Given the description of an element on the screen output the (x, y) to click on. 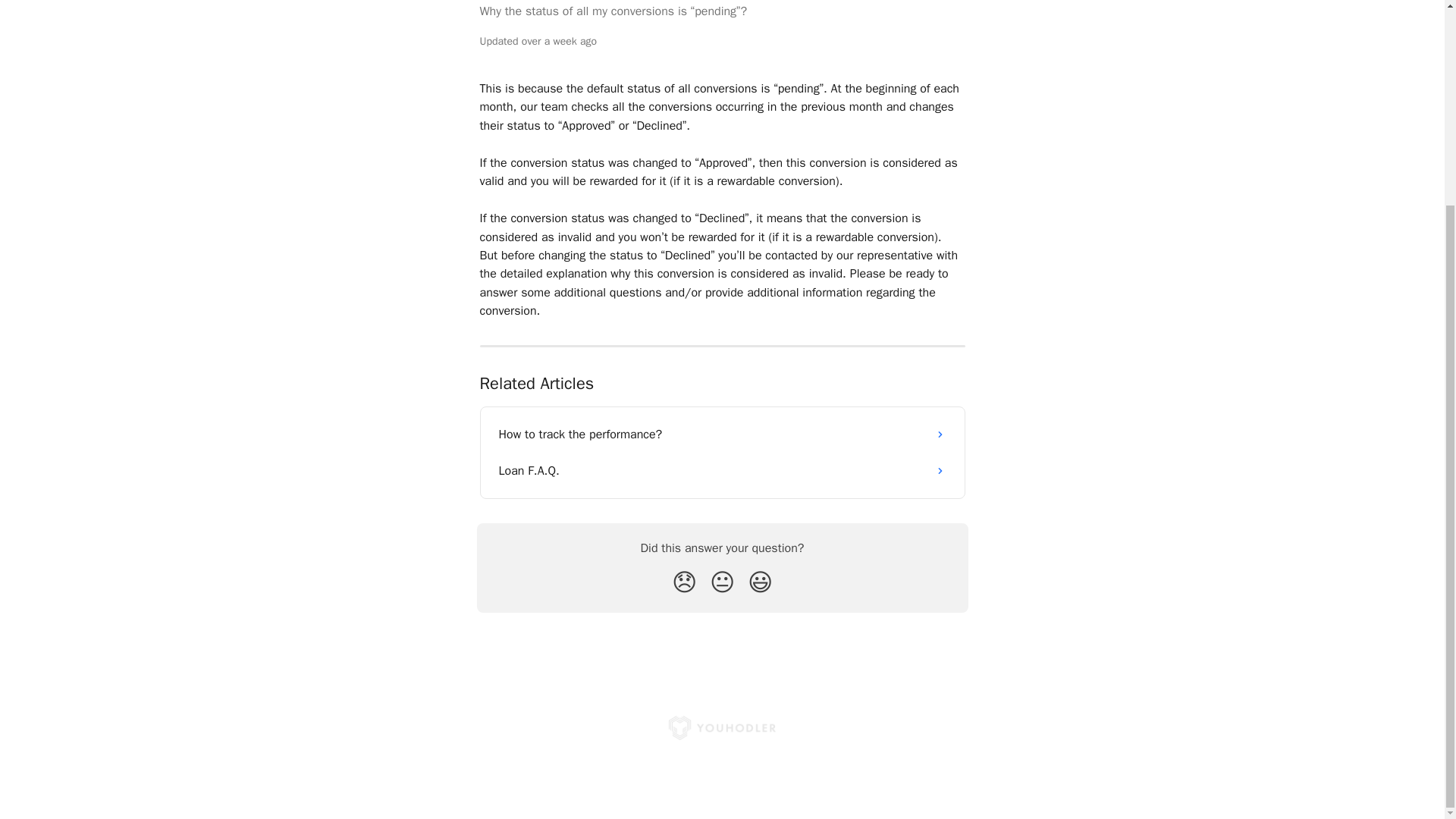
Loan F.A.Q. (722, 470)
How to track the performance? (722, 434)
